Given the description of an element on the screen output the (x, y) to click on. 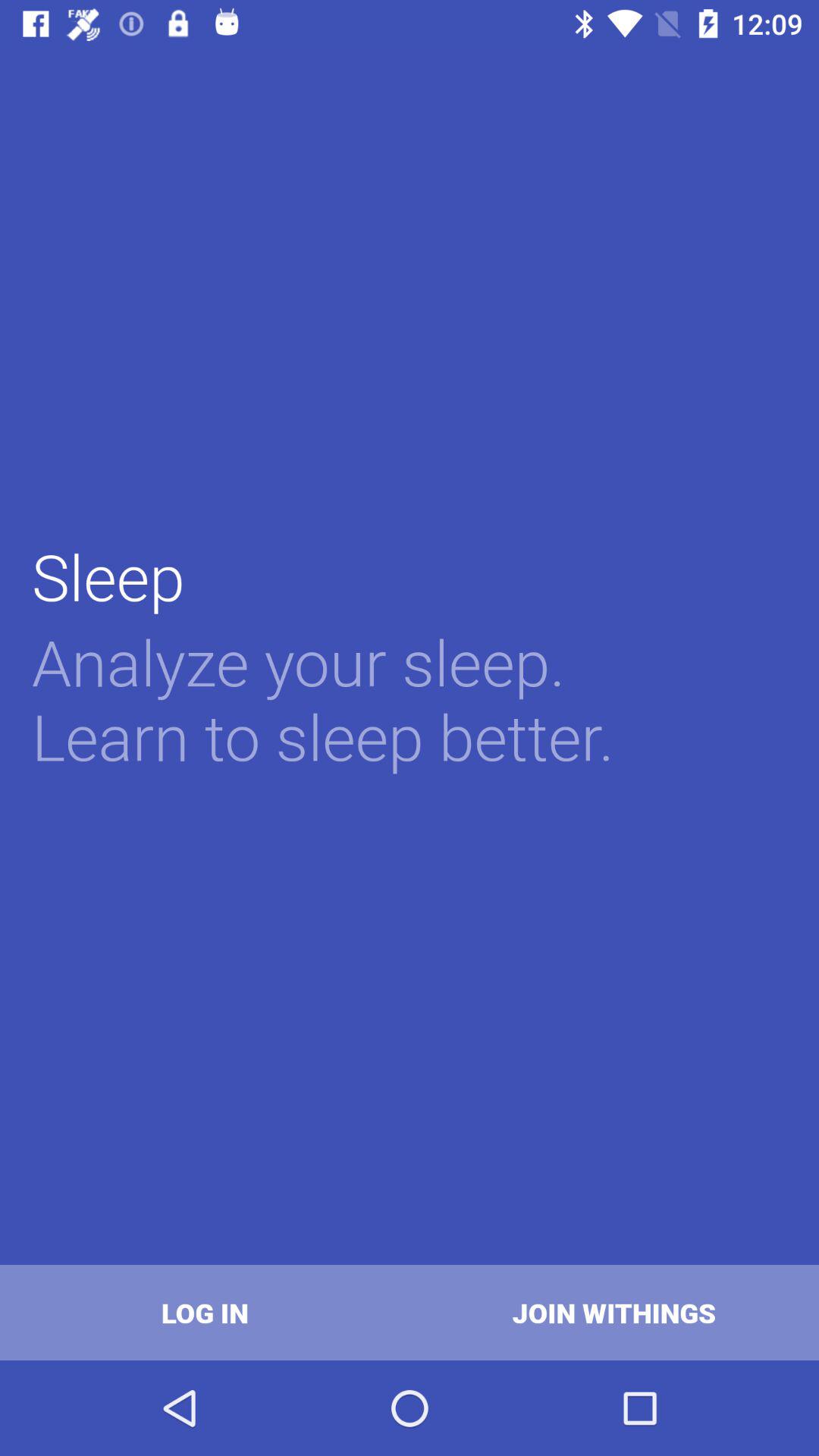
select the log in item (204, 1312)
